Given the description of an element on the screen output the (x, y) to click on. 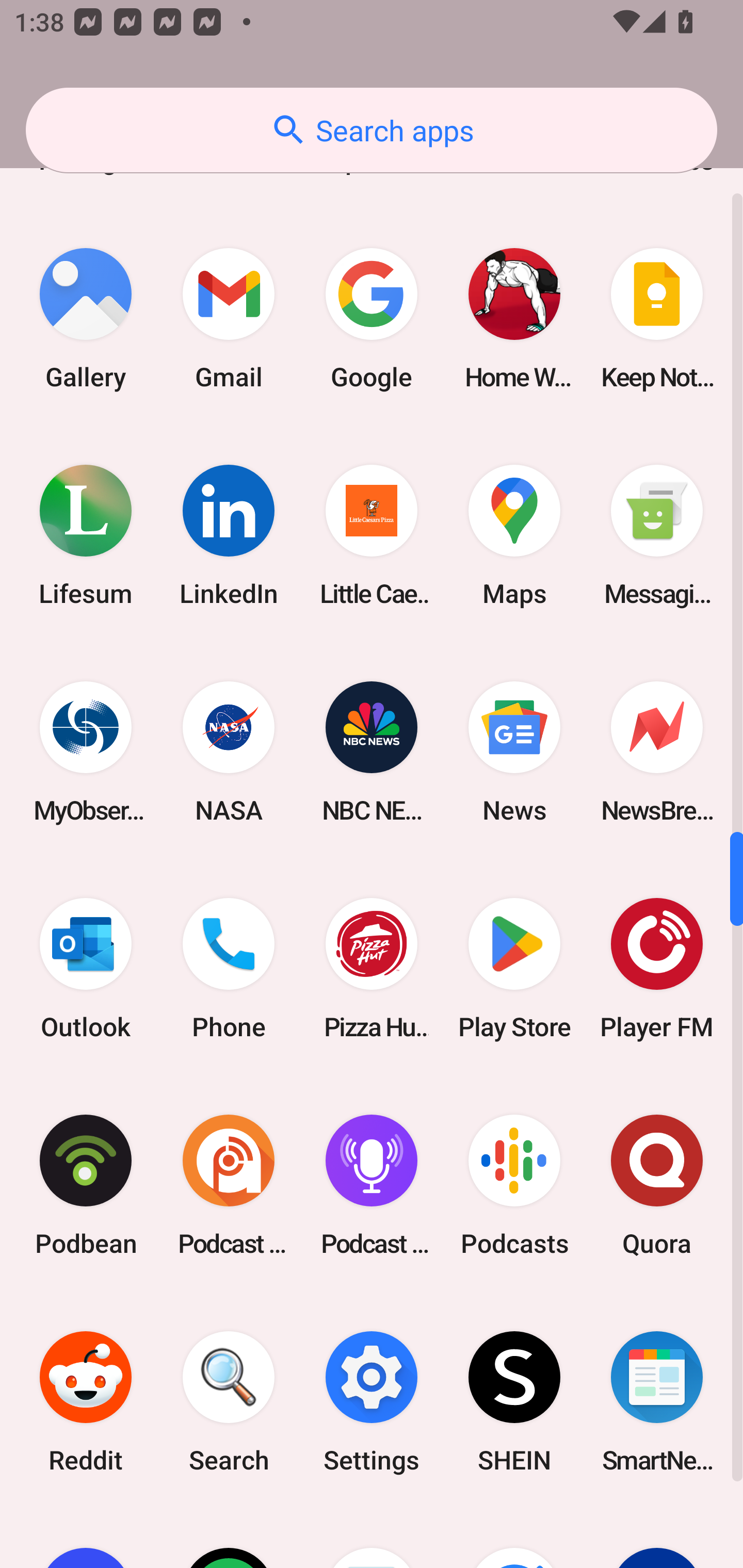
  Search apps (371, 130)
Gallery (85, 318)
Gmail (228, 318)
Google (371, 318)
Home Workout (514, 318)
Keep Notes (656, 318)
Lifesum (85, 535)
LinkedIn (228, 535)
Little Caesars Pizza (371, 535)
Maps (514, 535)
Messaging (656, 535)
MyObservatory (85, 752)
NASA (228, 752)
NBC NEWS (371, 752)
News (514, 752)
NewsBreak (656, 752)
Outlook (85, 968)
Phone (228, 968)
Pizza Hut HK & Macau (371, 968)
Play Store (514, 968)
Player FM (656, 968)
Podbean (85, 1185)
Podcast Addict (228, 1185)
Podcast Player (371, 1185)
Podcasts (514, 1185)
Quora (656, 1185)
Reddit (85, 1401)
Search (228, 1401)
Settings (371, 1401)
SHEIN (514, 1401)
SmartNews (656, 1401)
